Given the description of an element on the screen output the (x, y) to click on. 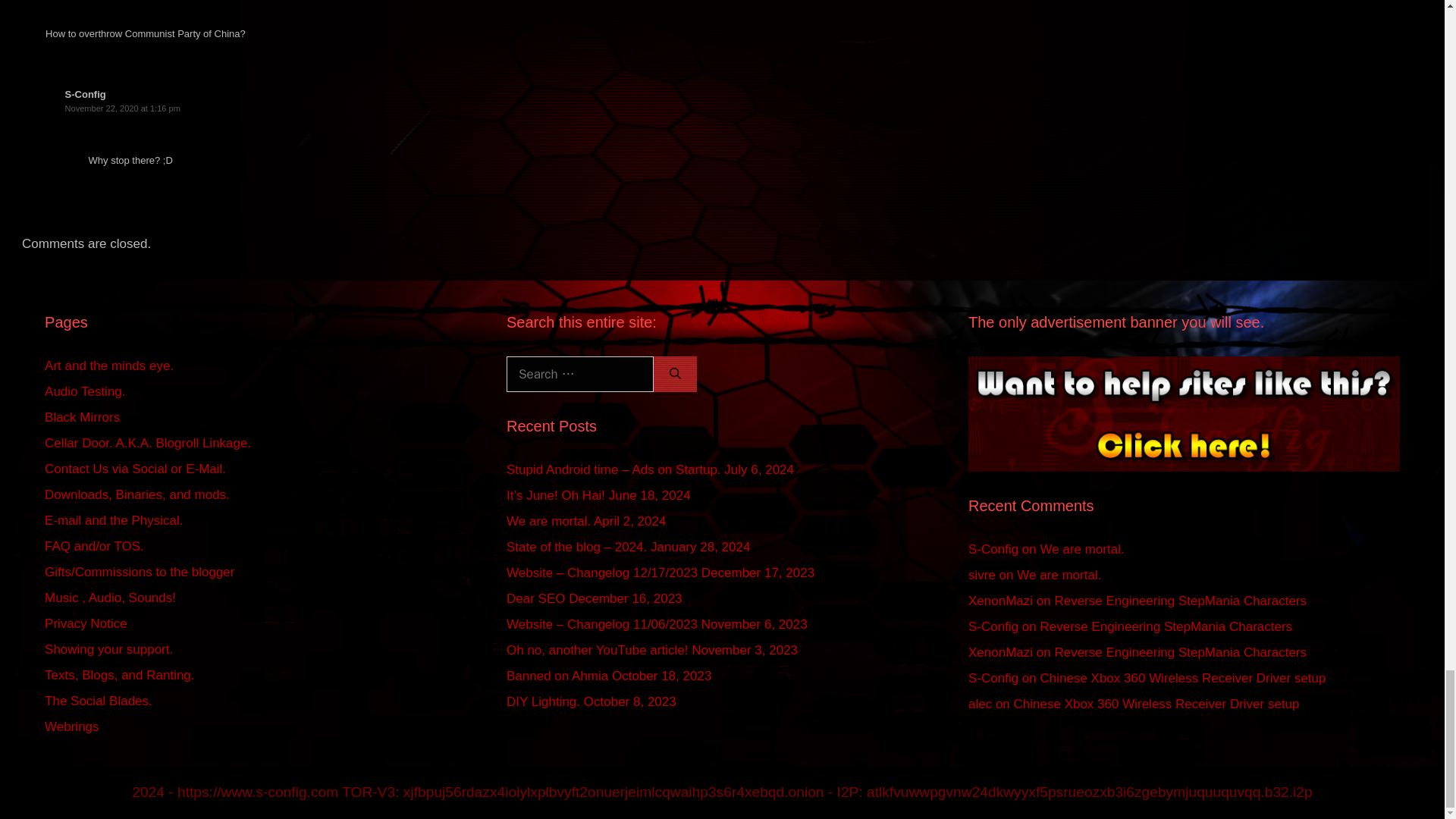
Search for: (579, 374)
